Given the description of an element on the screen output the (x, y) to click on. 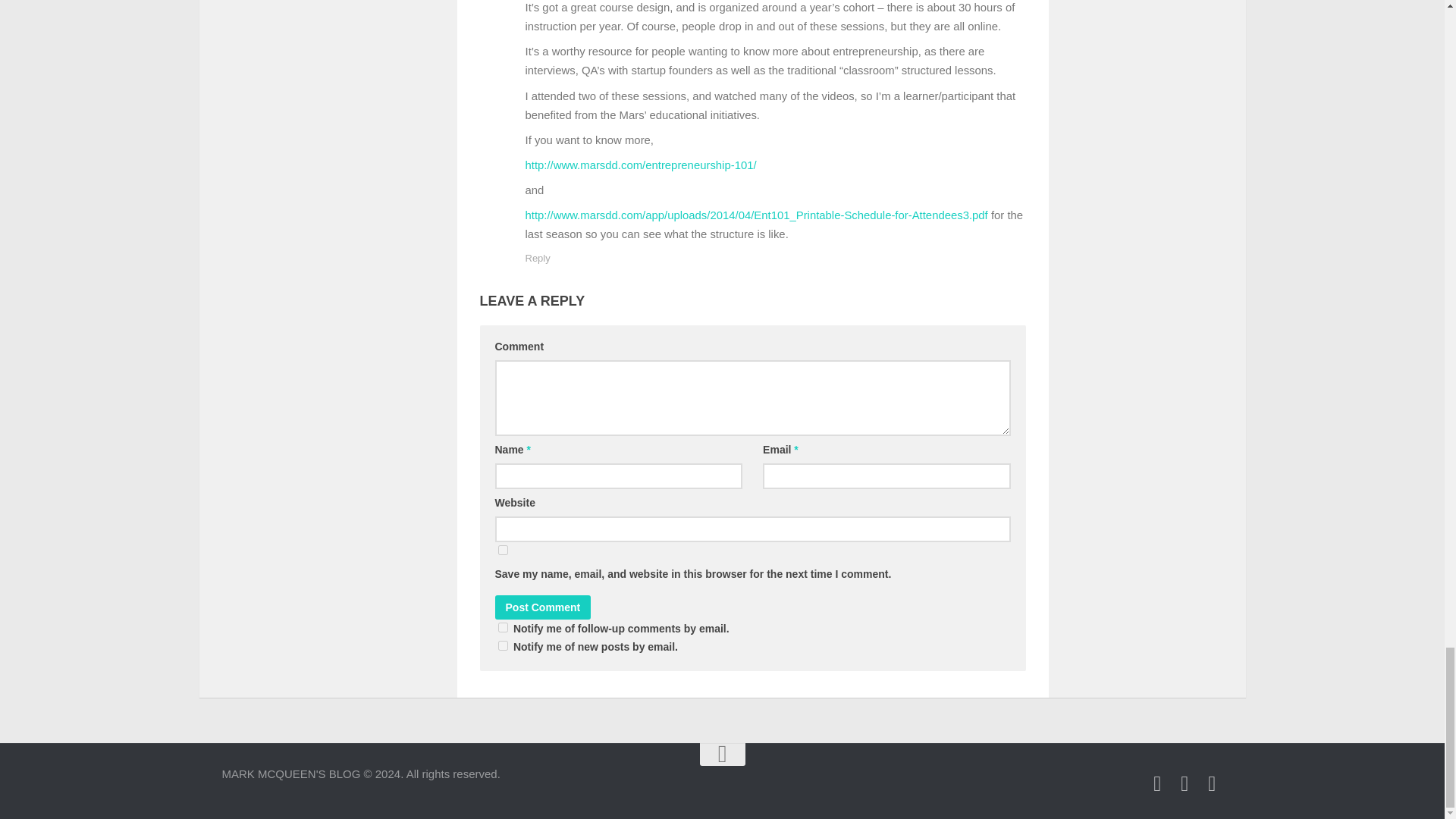
Follow Mark McQueen on Twitter (1157, 783)
Post Comment (543, 607)
Subscribe to MARK MCQUEEN'S BLOG (1212, 783)
Add Mark McQueen on Linkedin (1184, 783)
subscribe (501, 645)
subscribe (501, 627)
yes (501, 550)
